Given the description of an element on the screen output the (x, y) to click on. 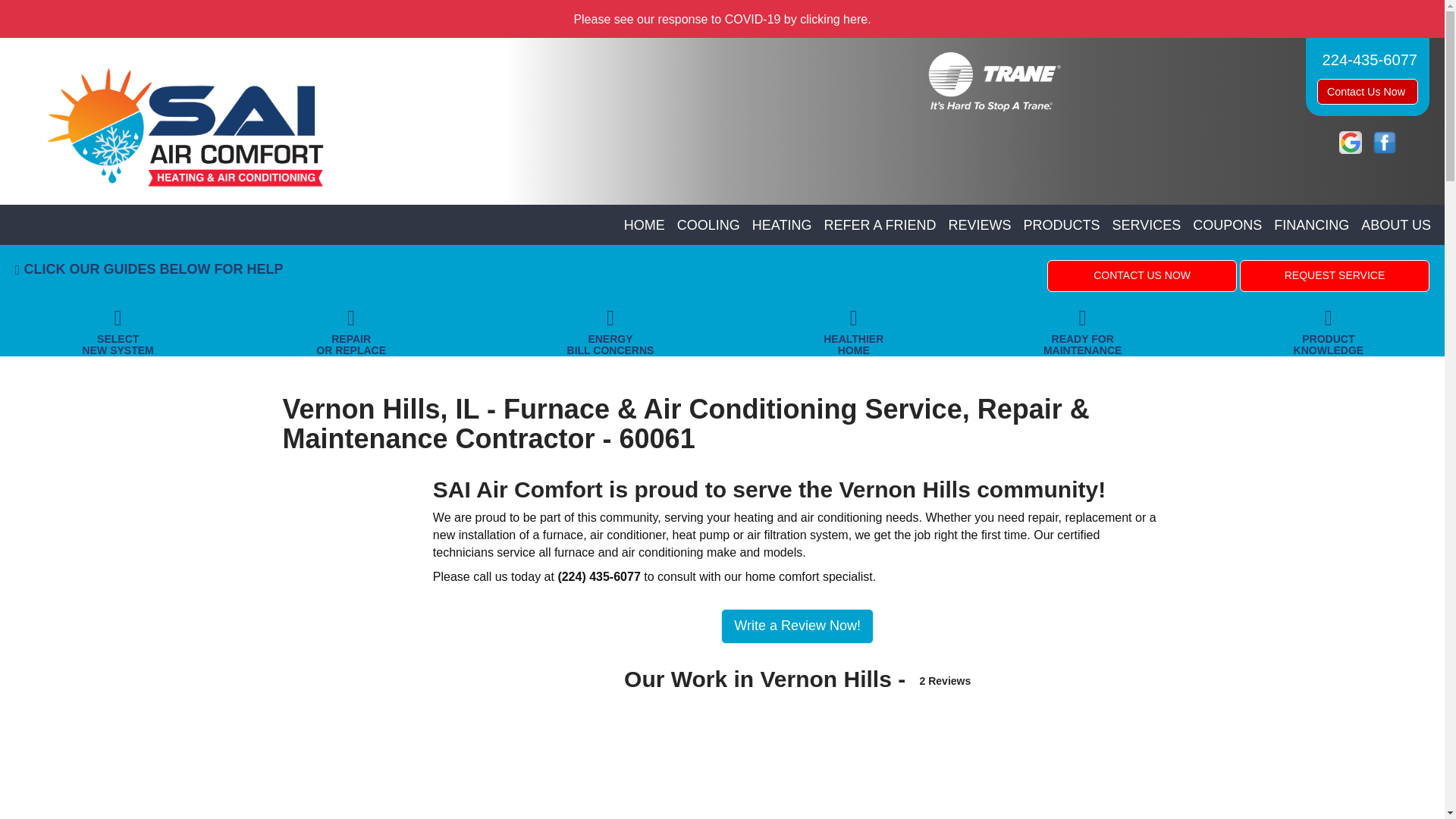
COOLING (708, 225)
PRODUCTS (1061, 225)
REFER A FRIEND (880, 225)
Contact Us Now  (1367, 91)
REVIEWS (979, 225)
 224-435-6077 (1366, 59)
HOME (644, 225)
SERVICES (1147, 225)
HEATING (781, 225)
